Given the description of an element on the screen output the (x, y) to click on. 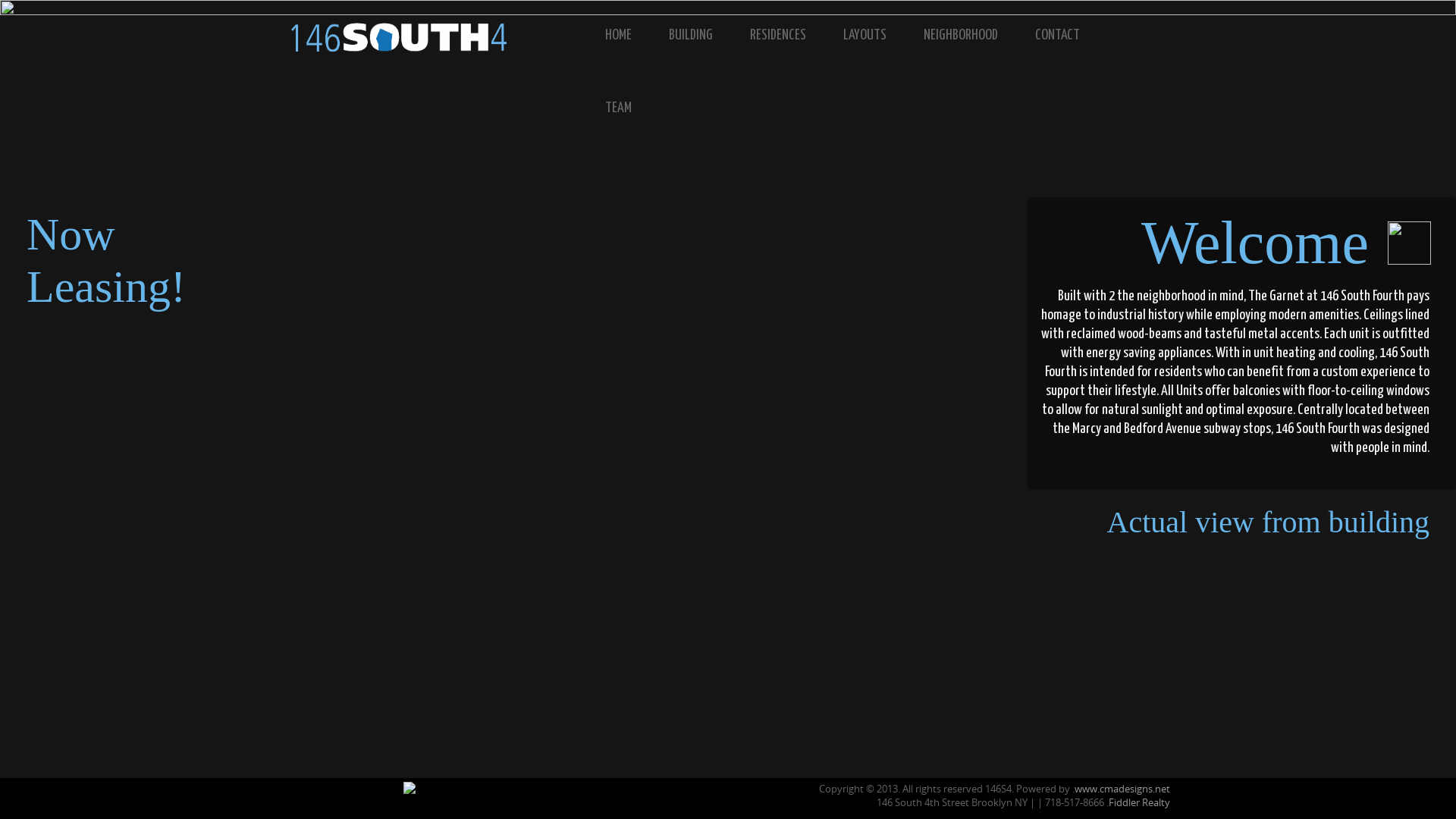
TEAM Element type: text (629, 108)
Facebook Element type: text (297, 806)
NEIGHBORHOOD Element type: text (971, 36)
Google+ Element type: text (325, 806)
BUILDING Element type: text (701, 36)
Fiddler Realty Element type: text (1139, 802)
www.cmadesigns.net Element type: text (1121, 788)
LAYOUTS Element type: text (875, 36)
RESIDENCES Element type: text (789, 36)
HOME Element type: text (629, 36)
CONTACT Element type: text (1069, 36)
Twitter Element type: text (354, 806)
Linkend In Element type: text (383, 806)
